Given the description of an element on the screen output the (x, y) to click on. 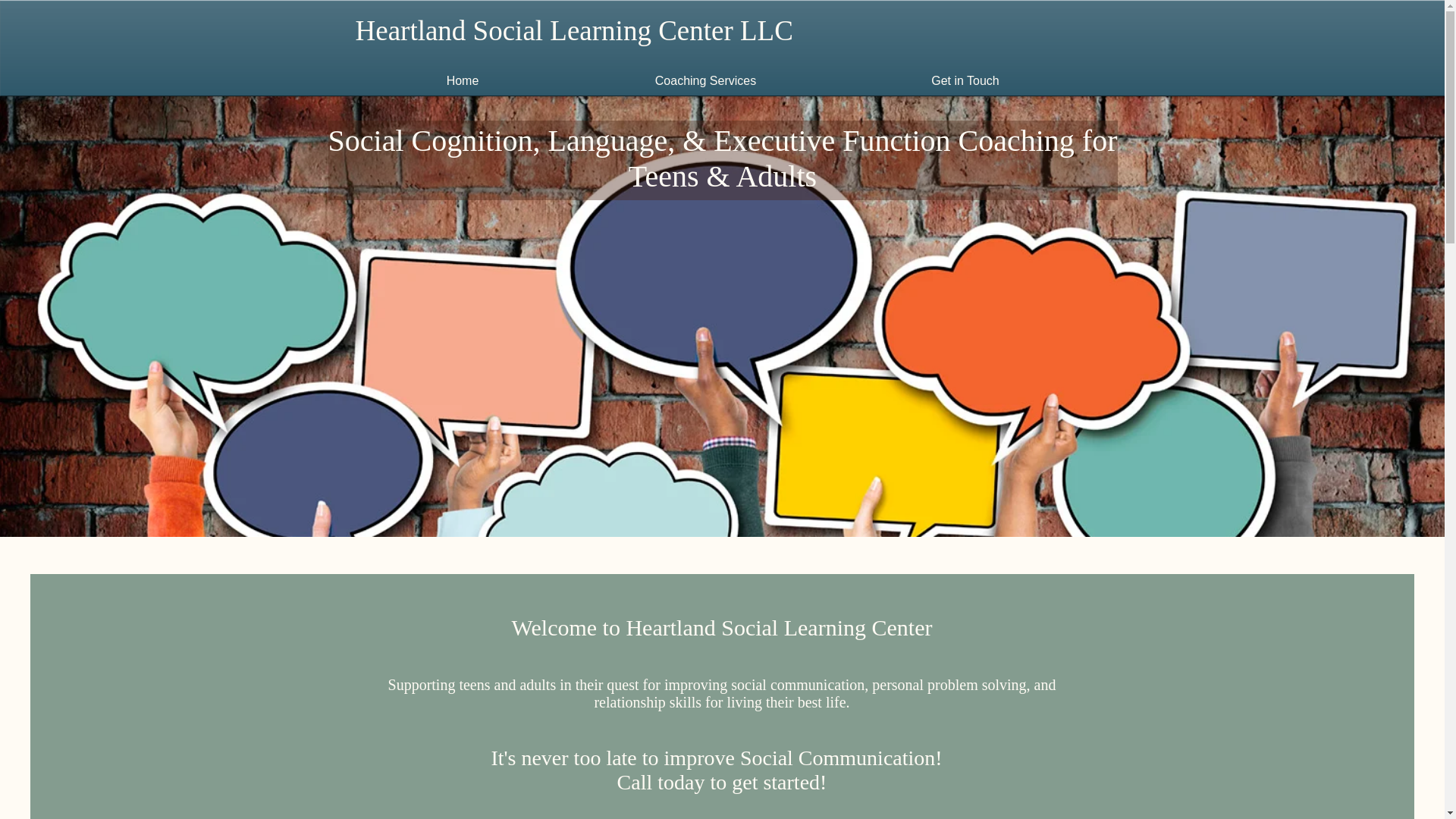
Get in Touch (965, 80)
Coaching Services (705, 80)
Heartland Social Learning Center LLC (573, 30)
Home (462, 80)
